Given the description of an element on the screen output the (x, y) to click on. 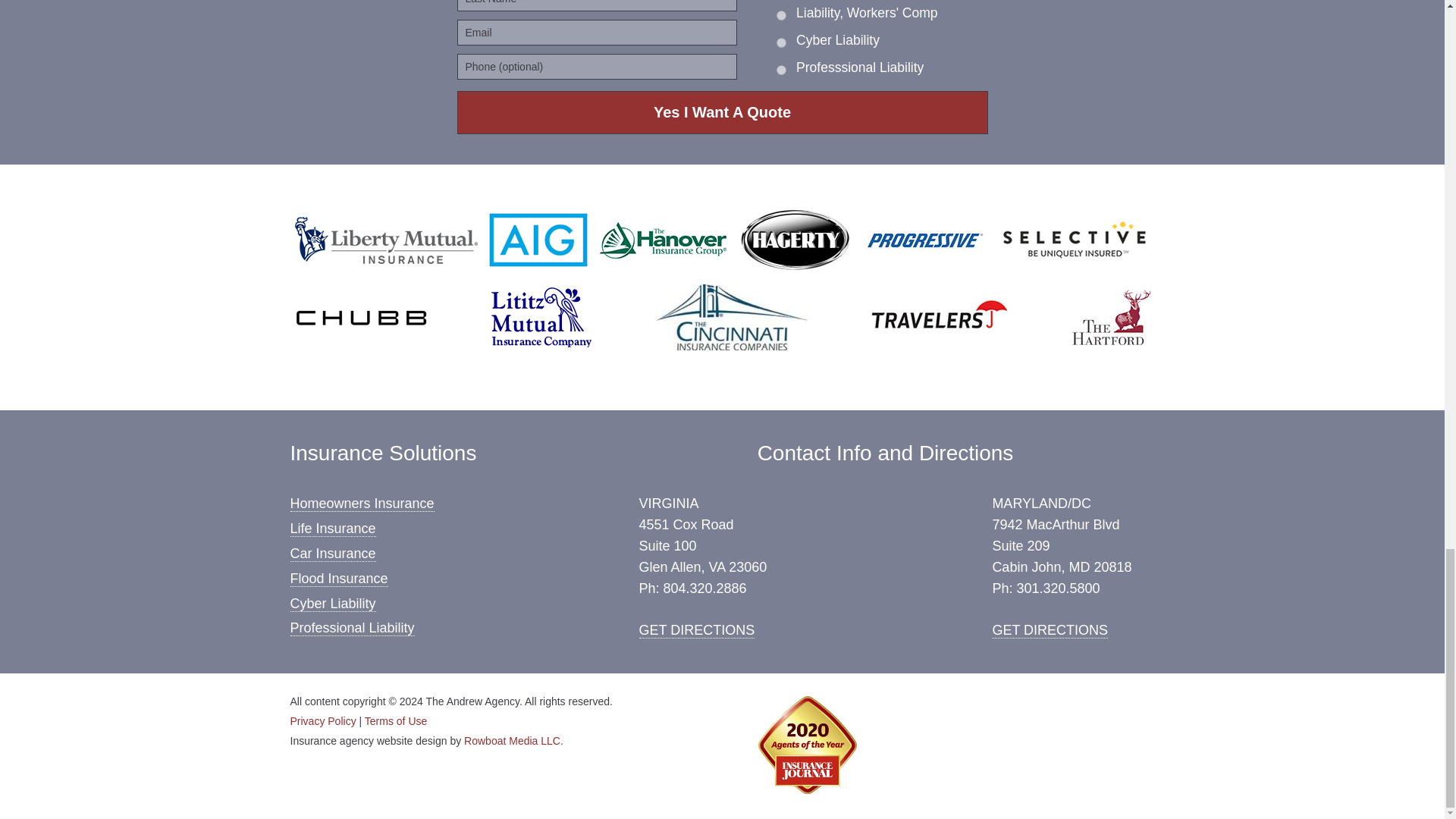
Yes I Want A Quote (722, 112)
Cyber Liability (781, 42)
Car Insurance (332, 553)
GET DIRECTIONS (696, 630)
Professsional Liability (781, 70)
Yes I Want A Quote (722, 112)
Professional Liability (351, 627)
GET DIRECTIONS (1049, 630)
Liability, Workers' Comp (781, 15)
Cyber Liability (332, 603)
Life Insurance (332, 528)
Flood Insurance (338, 578)
Homeowners Insurance (361, 503)
